Given the description of an element on the screen output the (x, y) to click on. 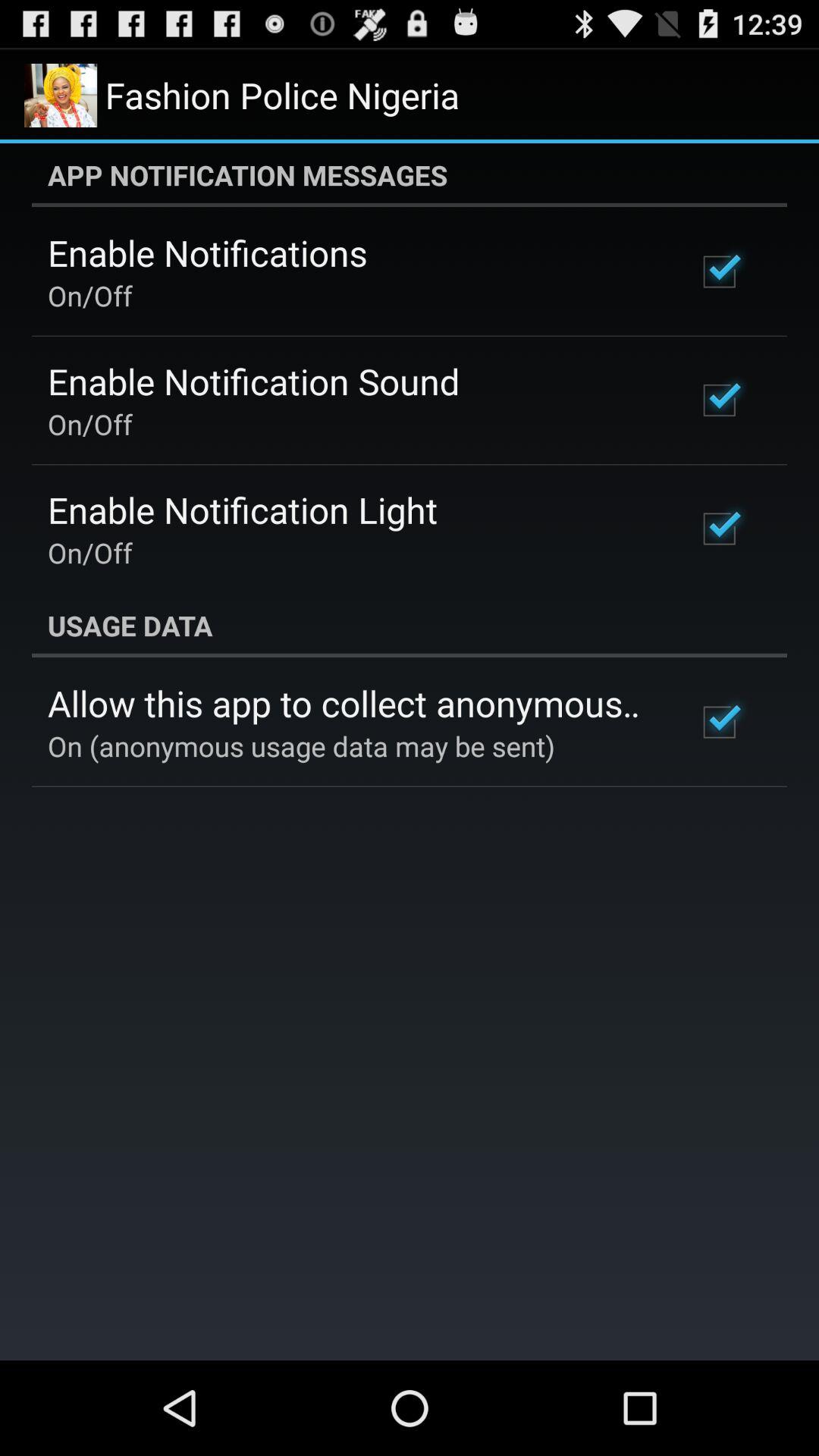
click on the first check box (719, 272)
select the image on the top left corner of the web page (60, 95)
